Given the description of an element on the screen output the (x, y) to click on. 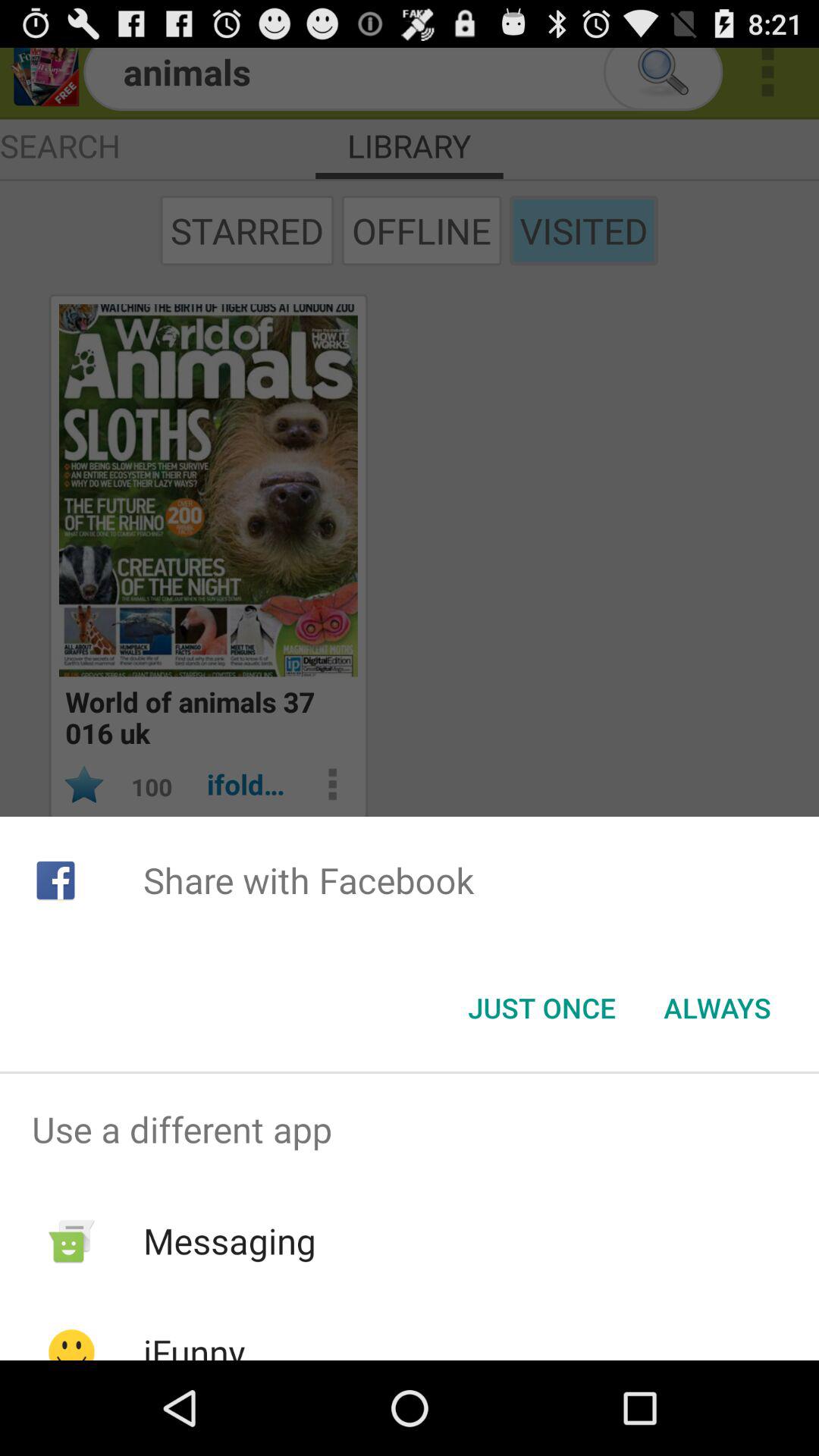
scroll until always button (717, 1007)
